Given the description of an element on the screen output the (x, y) to click on. 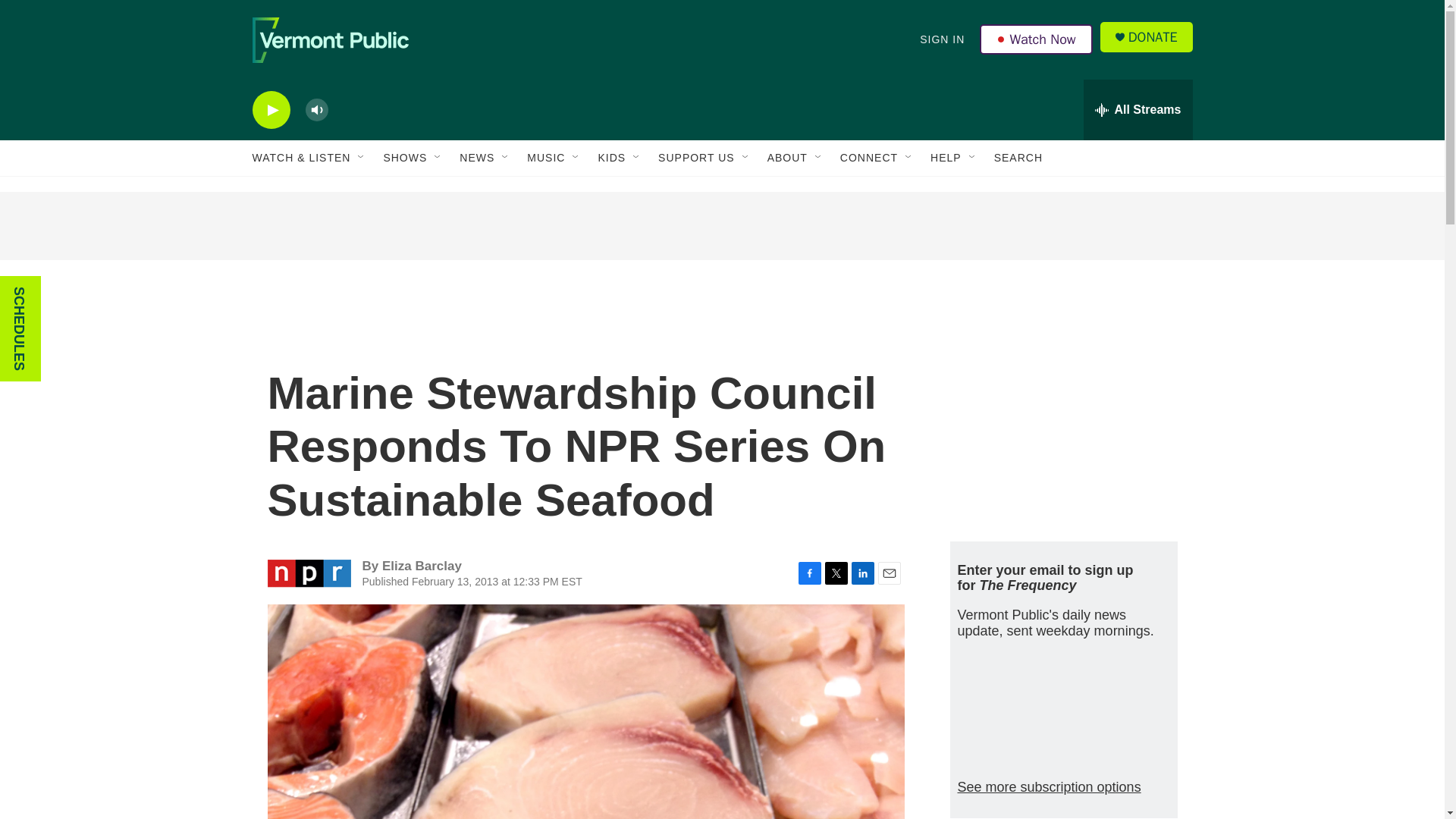
3rd party ad content (1062, 416)
3rd party ad content (721, 225)
